Given the description of an element on the screen output the (x, y) to click on. 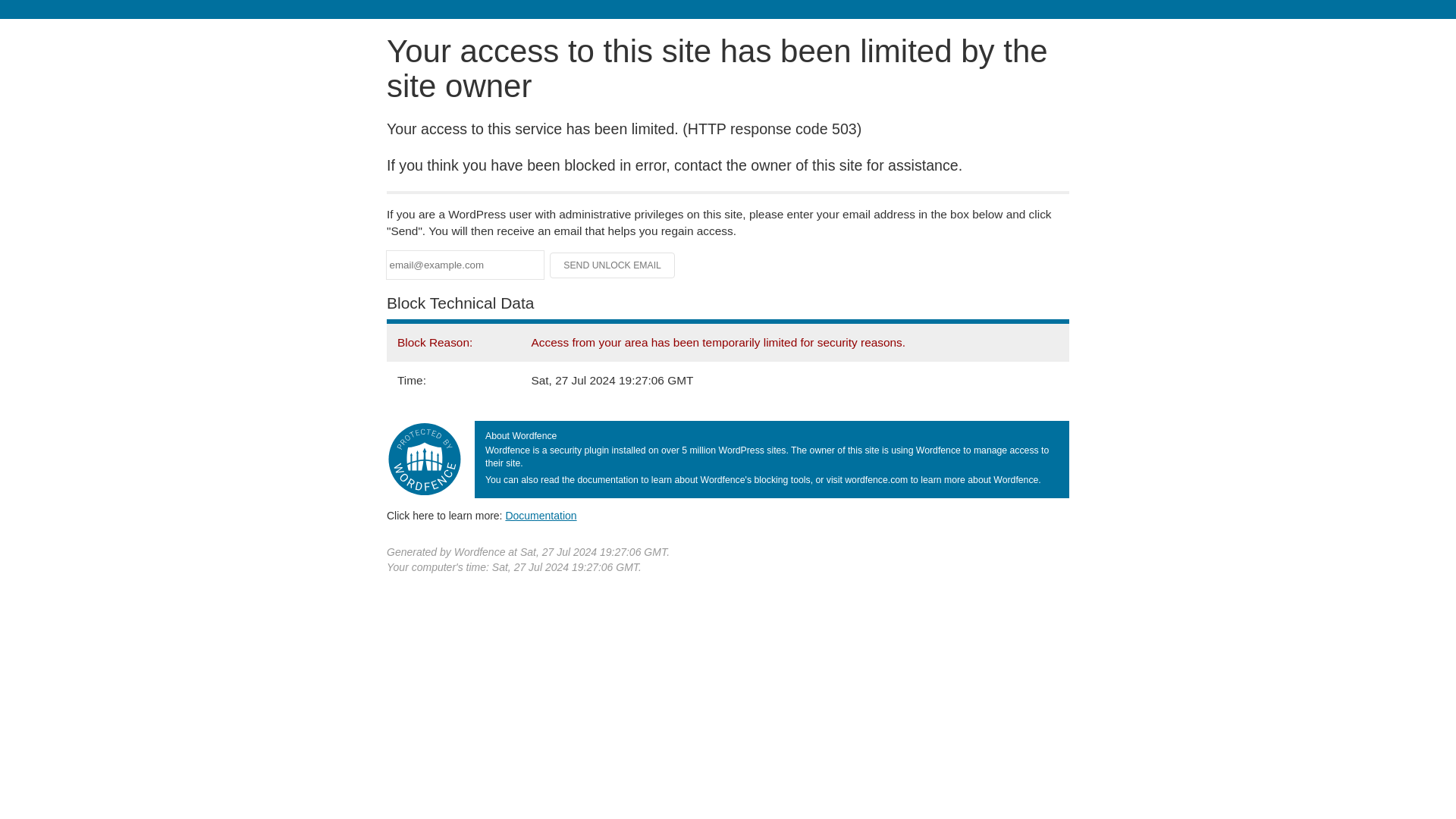
Send Unlock Email (612, 265)
Send Unlock Email (612, 265)
Documentation (540, 515)
